Given the description of an element on the screen output the (x, y) to click on. 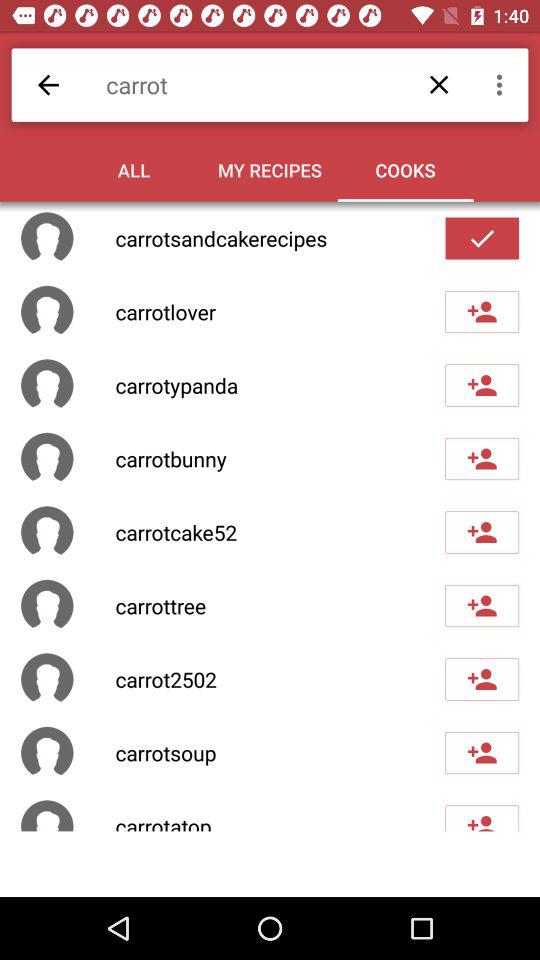
add to favorites (482, 459)
